Given the description of an element on the screen output the (x, y) to click on. 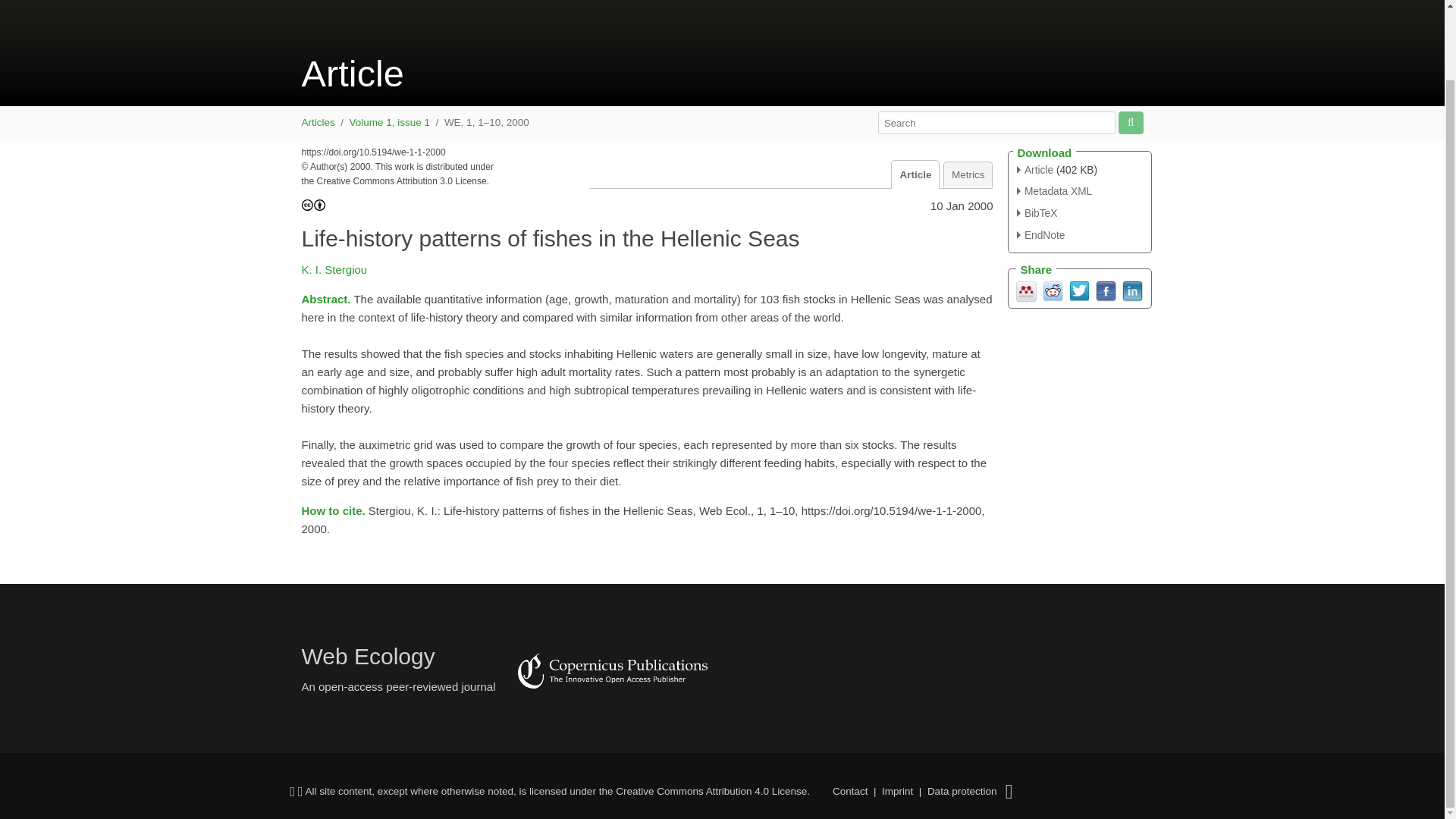
Mendeley (1026, 289)
Start site search (1130, 122)
Twitter (1078, 289)
Reddit (1052, 289)
XML Version (1054, 191)
